Given the description of an element on the screen output the (x, y) to click on. 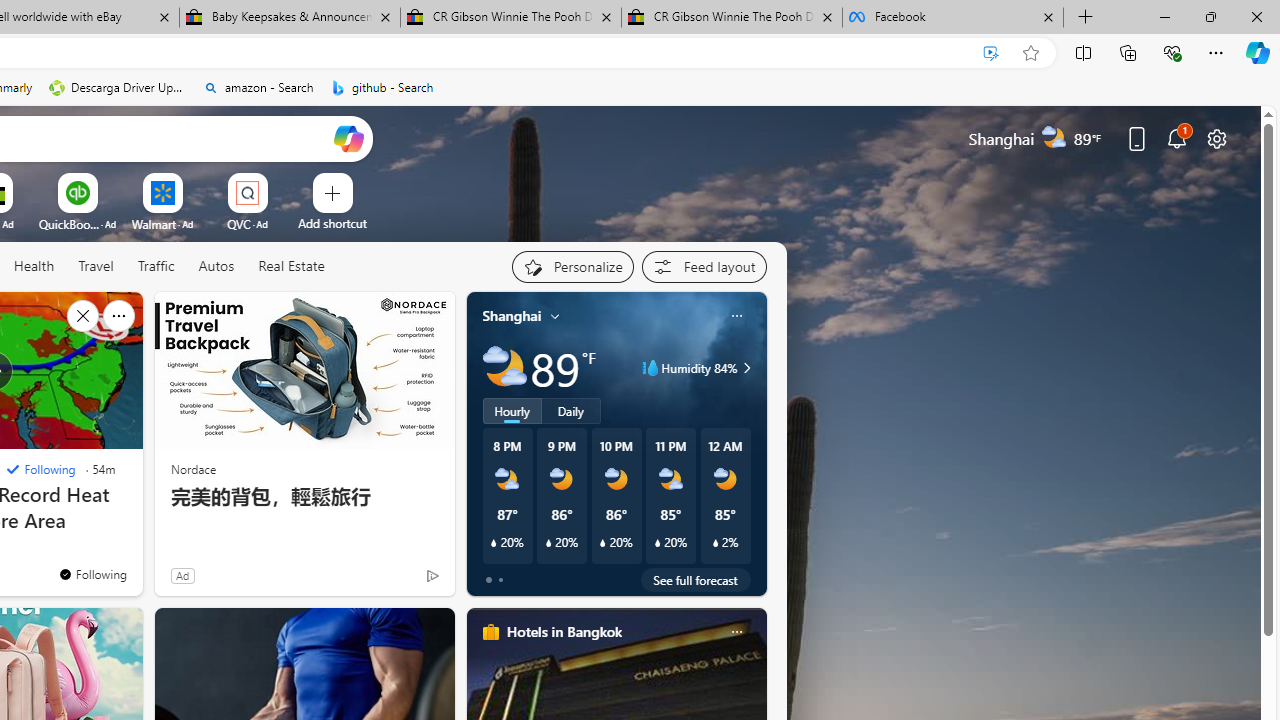
Humidity 84% (744, 367)
Page settings (1216, 138)
Hourly (511, 411)
Personalize your feed" (571, 266)
Partly cloudy (504, 368)
